Given the description of an element on the screen output the (x, y) to click on. 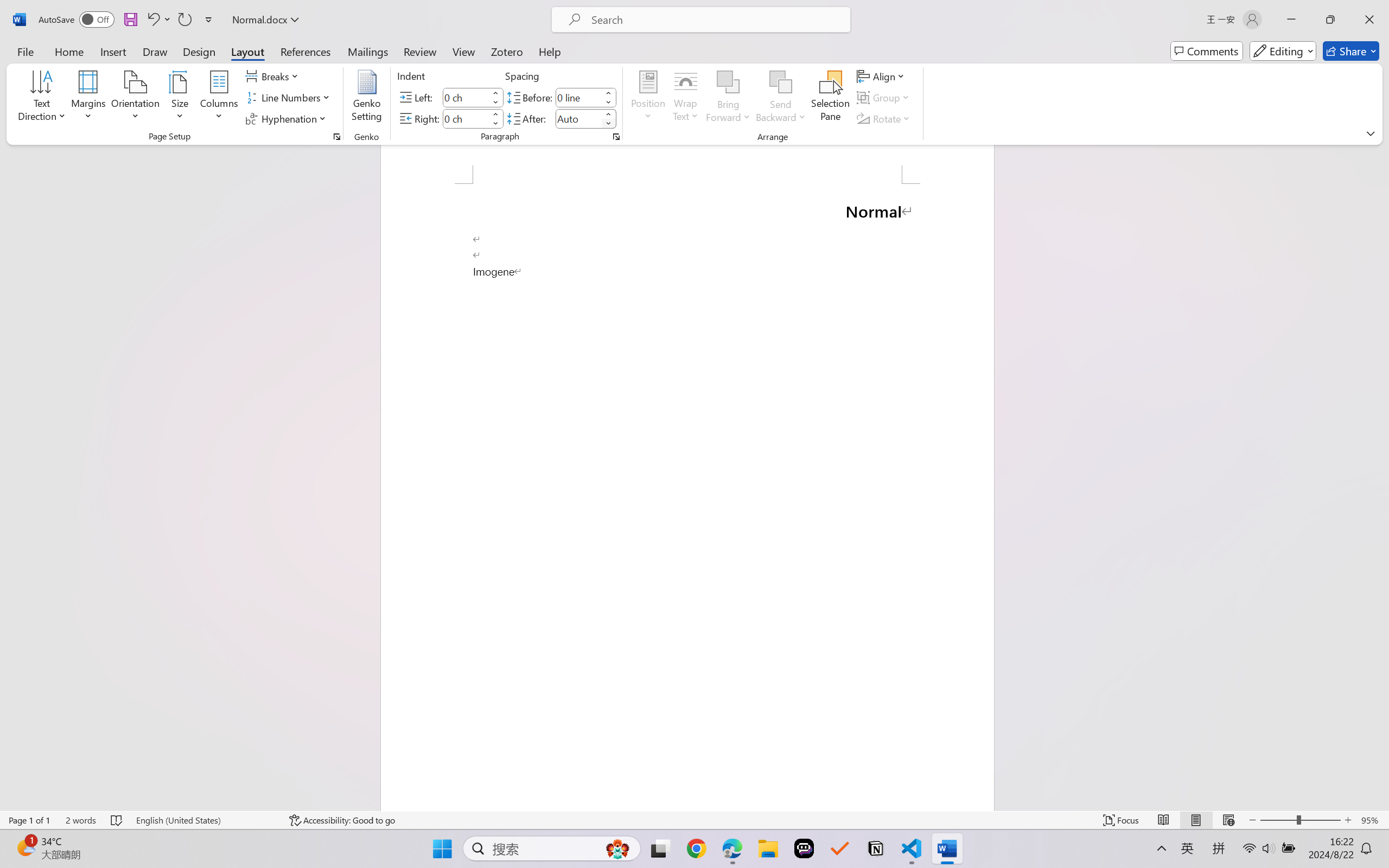
Genko Setting... (367, 97)
Orientation (135, 97)
Send Backward (781, 97)
Class: MsoCommandBar (694, 819)
Margins (88, 97)
Breaks (273, 75)
